Given the description of an element on the screen output the (x, y) to click on. 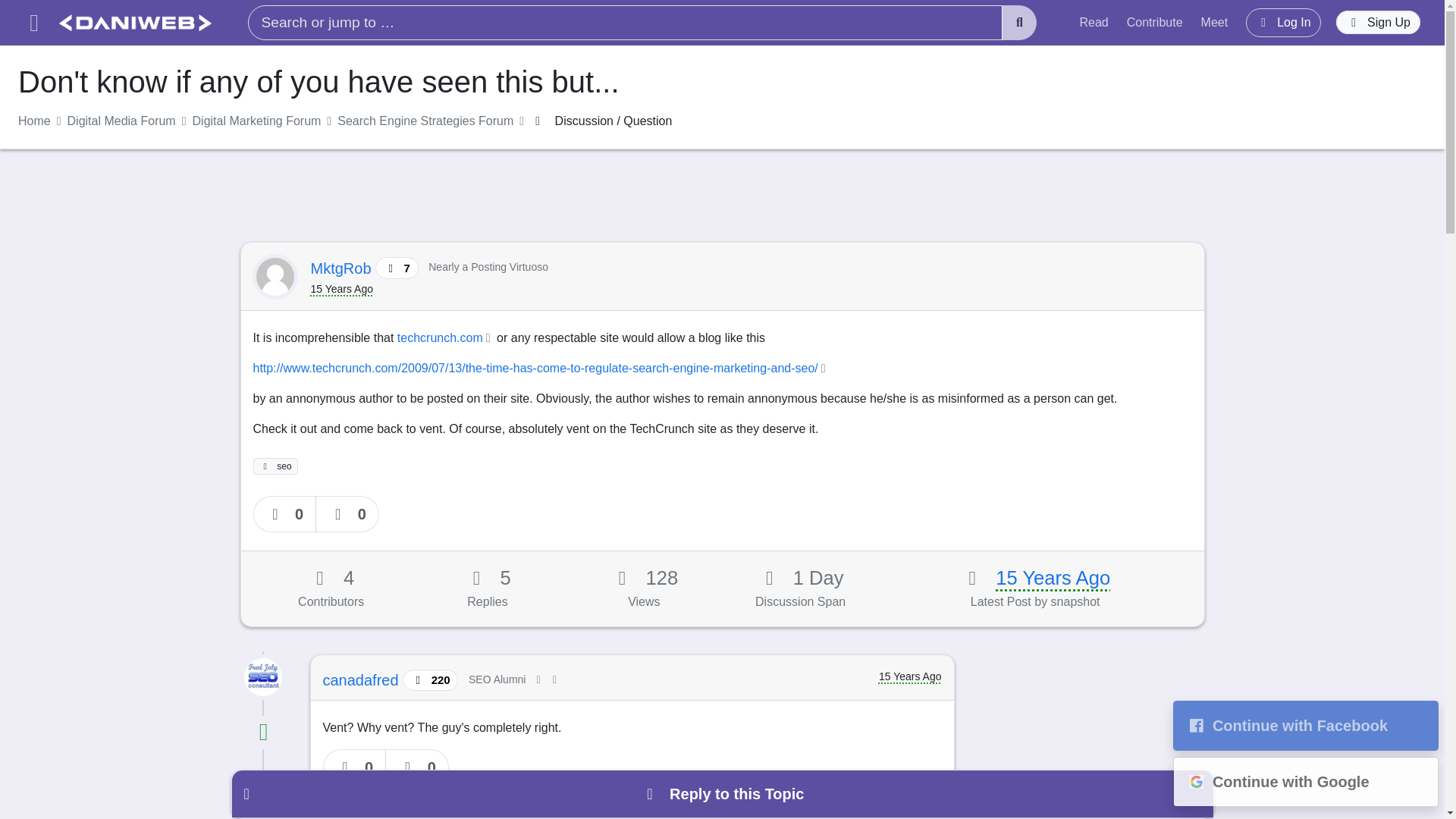
Toggle Menu (33, 22)
DaniWeb (135, 22)
Search Engine Strategies Forum (425, 120)
0 (355, 767)
Meet (1214, 22)
canadafred (363, 679)
Sign Up (1378, 22)
seo (275, 466)
Contribute (1155, 22)
Search (1018, 22)
Digital Media Forum (121, 120)
0 (346, 514)
0 (285, 514)
Menu (33, 22)
Home (33, 120)
